Given the description of an element on the screen output the (x, y) to click on. 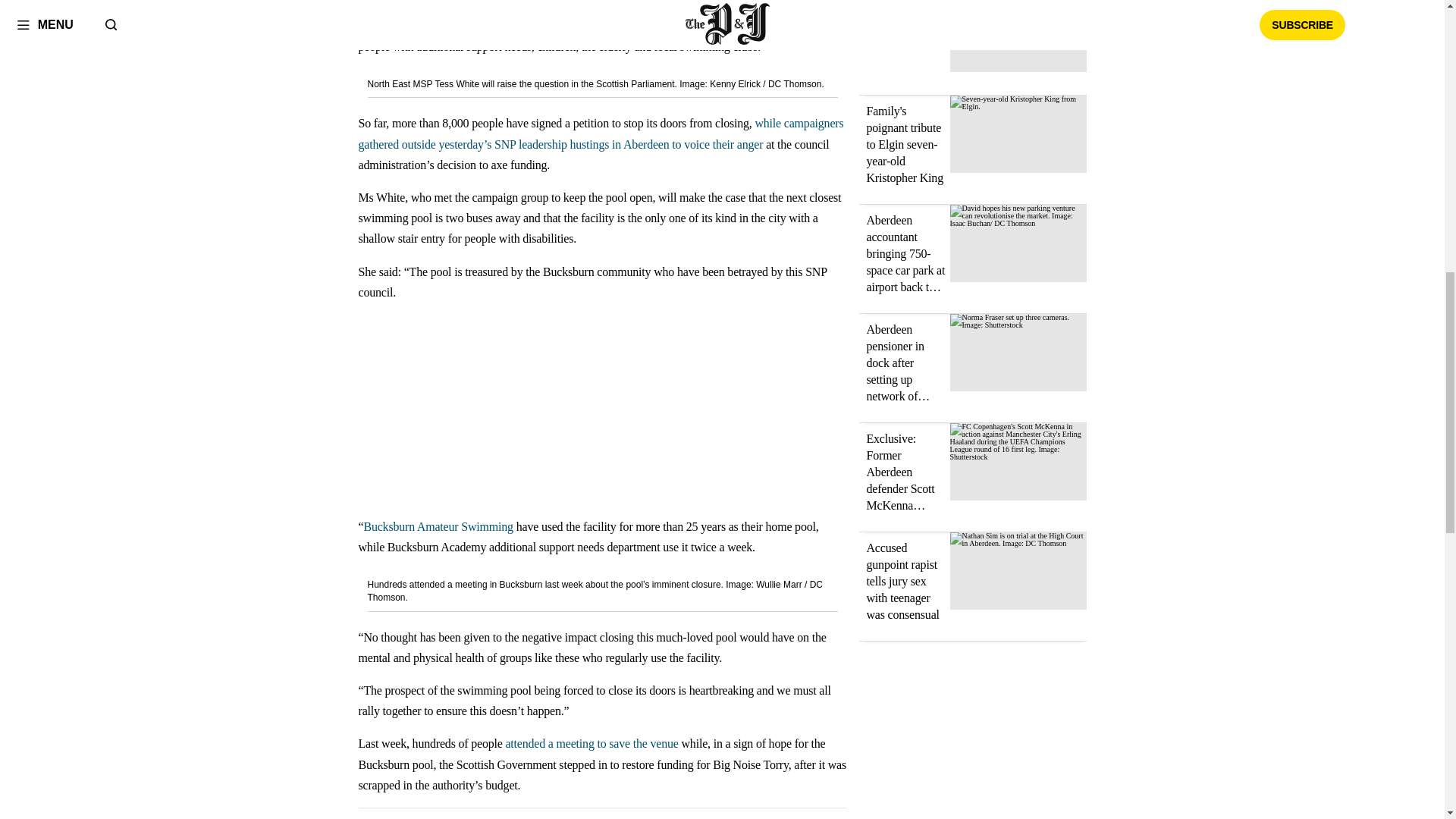
New roads ban for three-time drink-driver (901, 27)
